Given the description of an element on the screen output the (x, y) to click on. 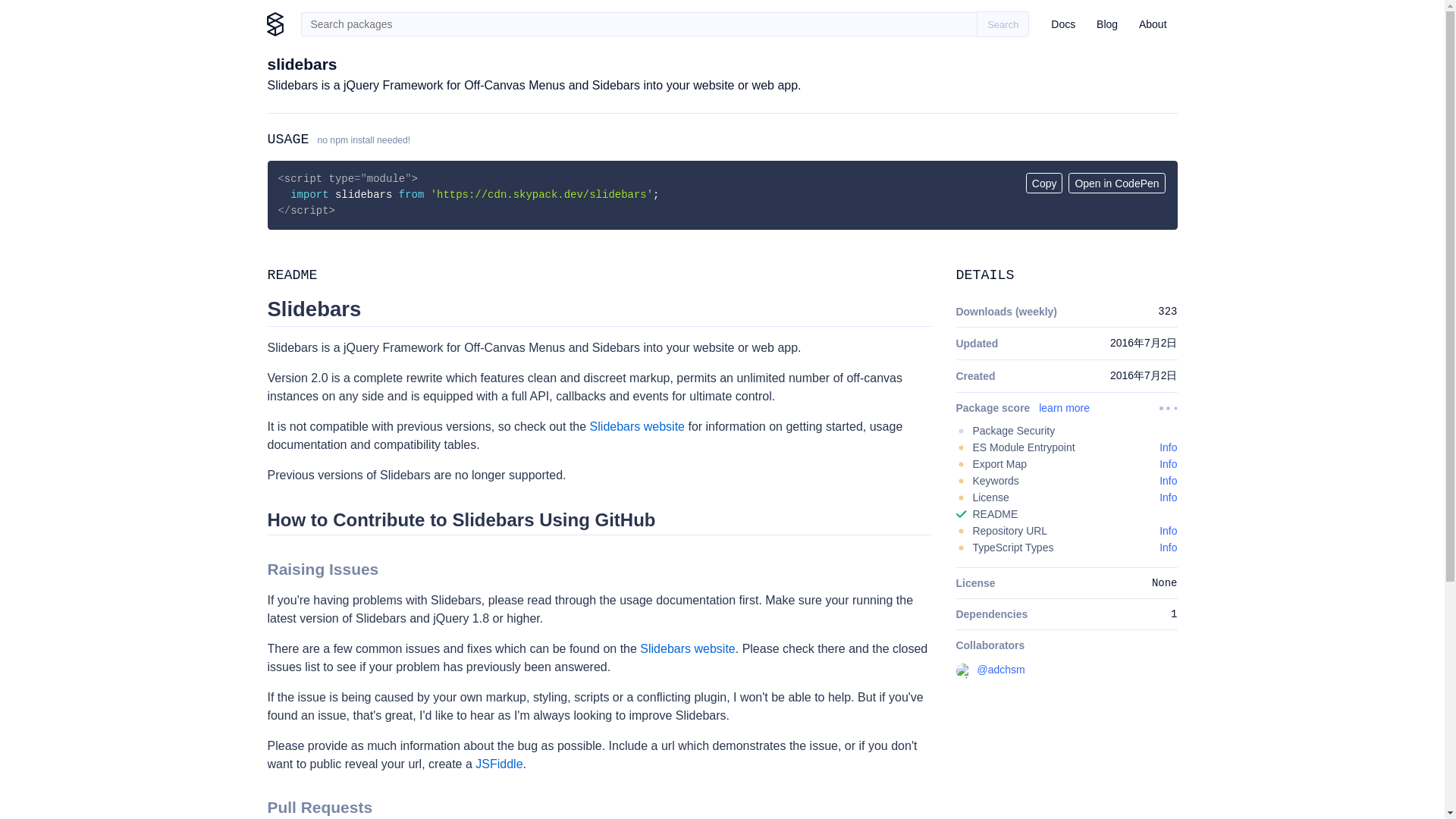
Open in CodePen (1116, 182)
About (1152, 24)
Blog (1107, 24)
learn more (1064, 408)
Info (1167, 530)
Info (1167, 497)
Slidebars website (687, 648)
Docs (1063, 24)
Slidebars website (636, 426)
JSFiddle (499, 763)
